Given the description of an element on the screen output the (x, y) to click on. 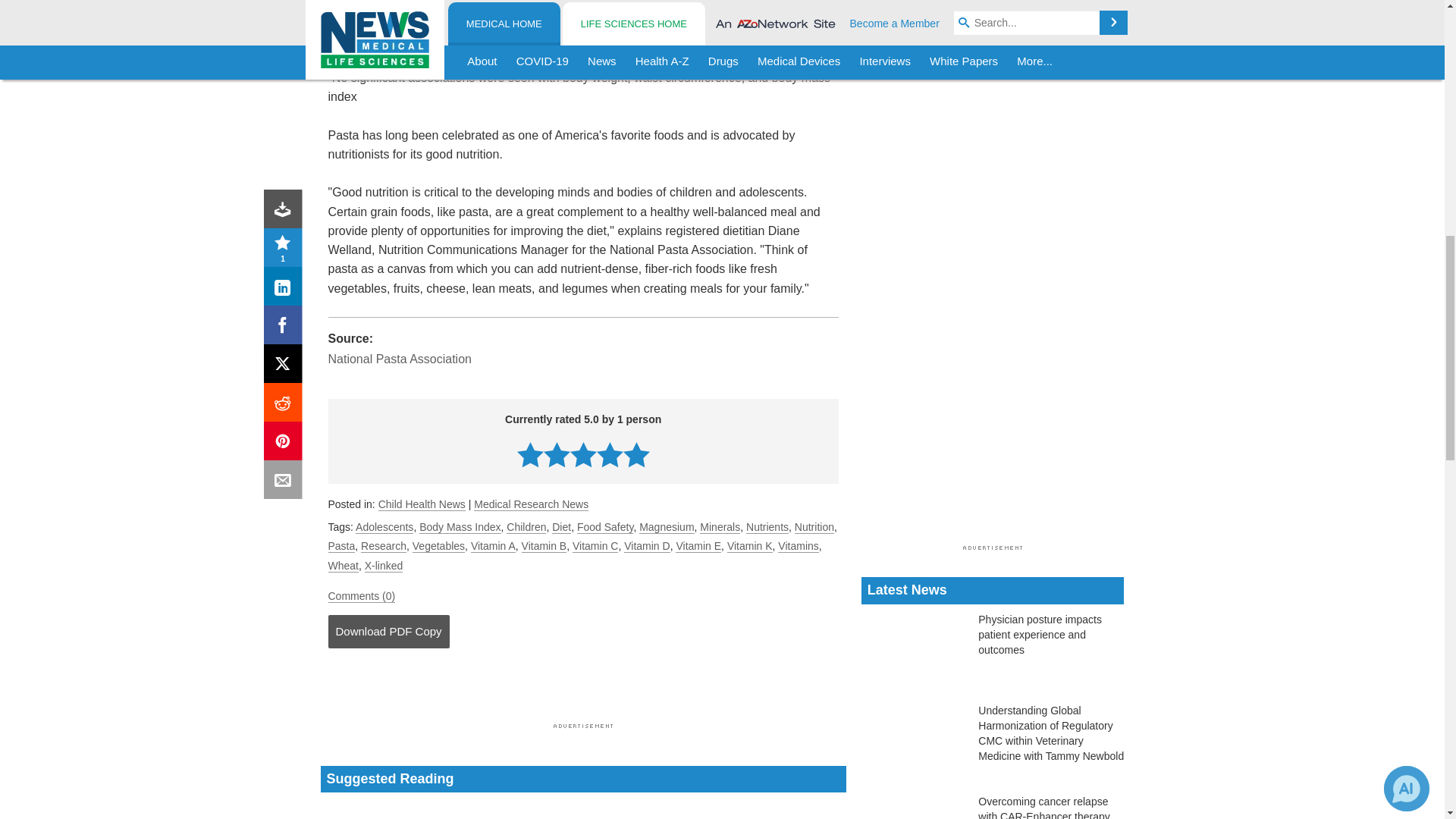
Rate this 4 stars out of 5 (609, 454)
Rate this 5 stars out of 5 (636, 454)
